Given the description of an element on the screen output the (x, y) to click on. 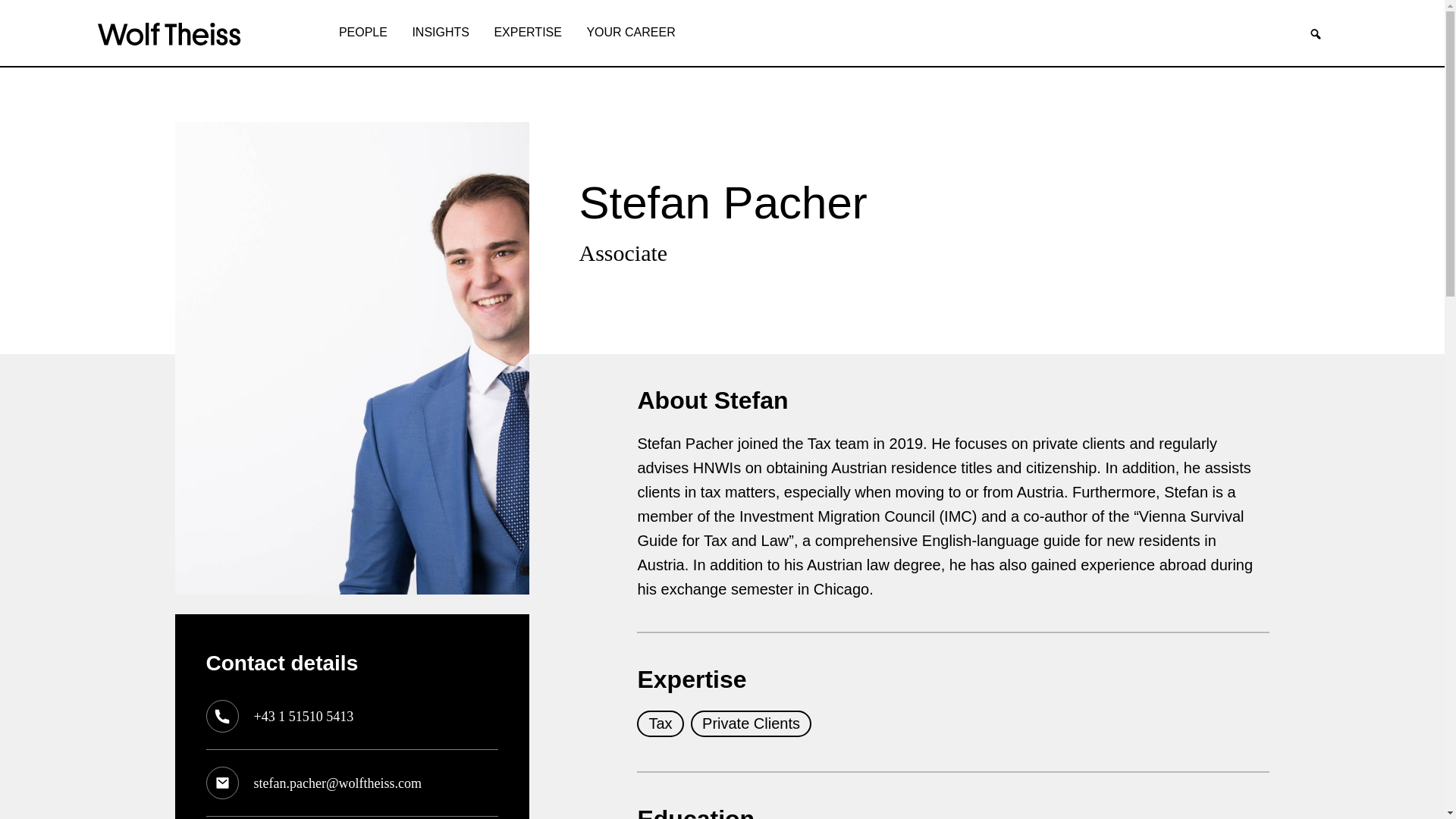
INSIGHTS (440, 32)
PEOPLE (363, 32)
EXPERTISE (527, 32)
